Given the description of an element on the screen output the (x, y) to click on. 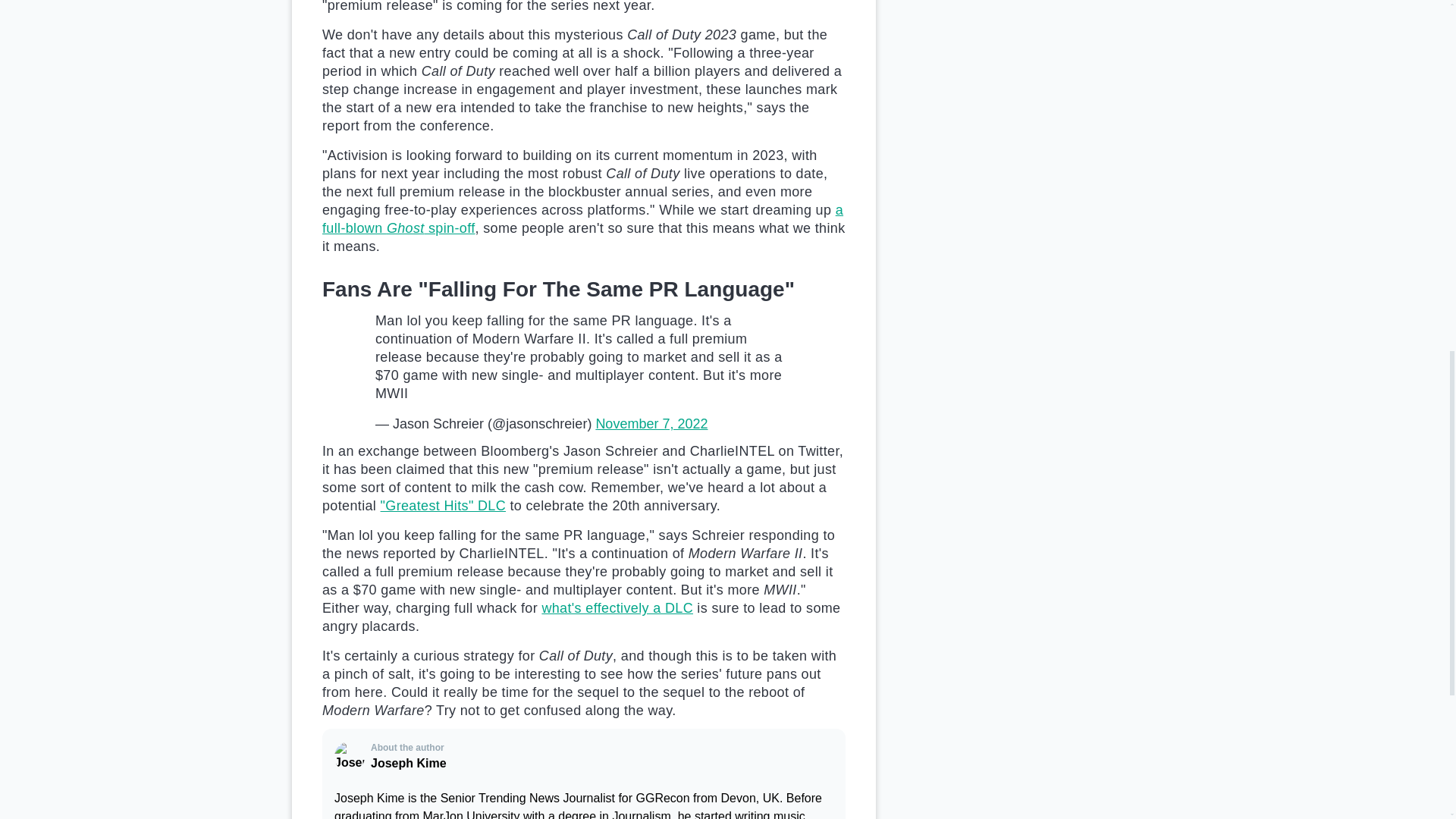
Joseph Kime (349, 757)
